Given the description of an element on the screen output the (x, y) to click on. 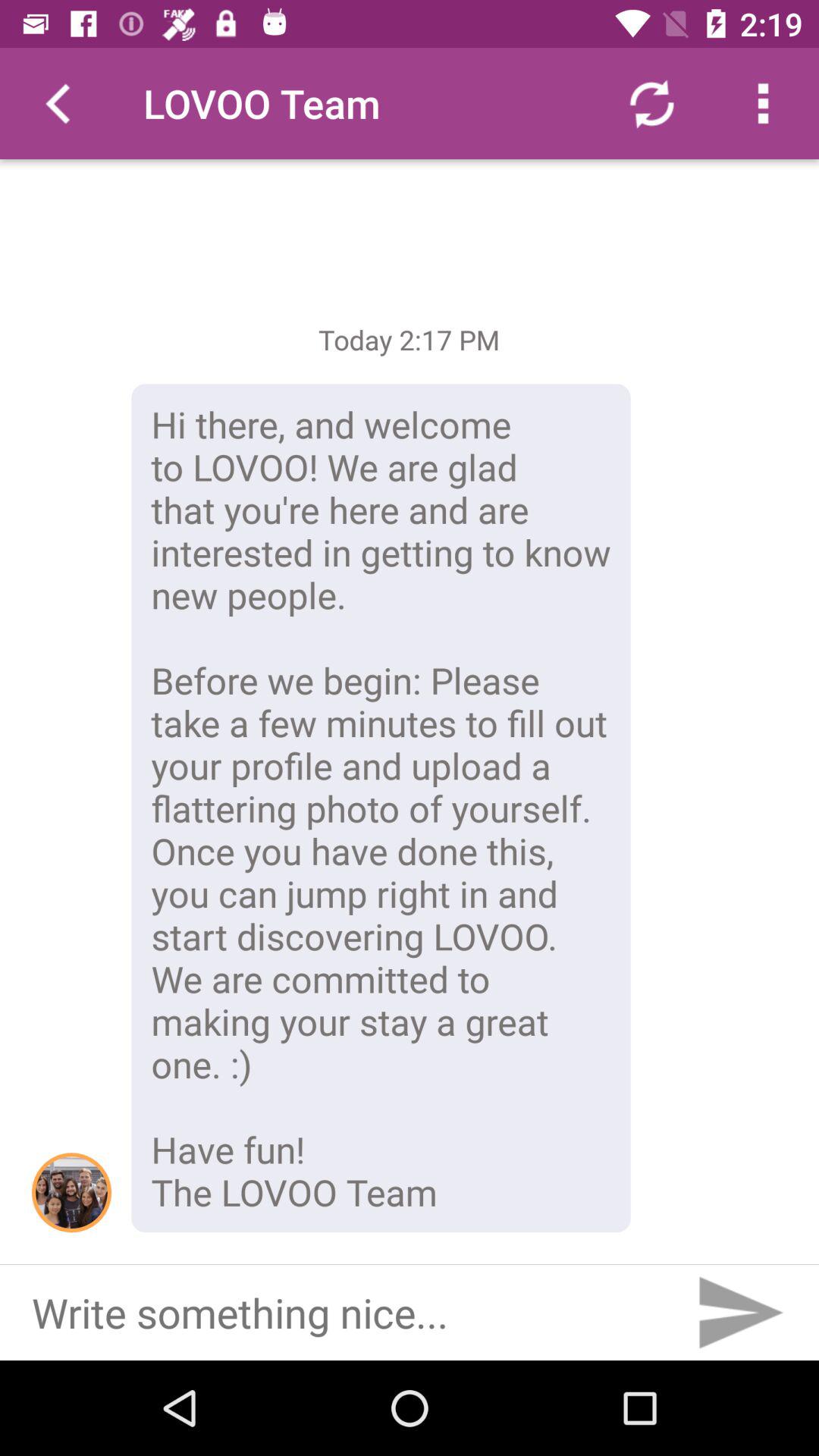
see profile (71, 1192)
